Given the description of an element on the screen output the (x, y) to click on. 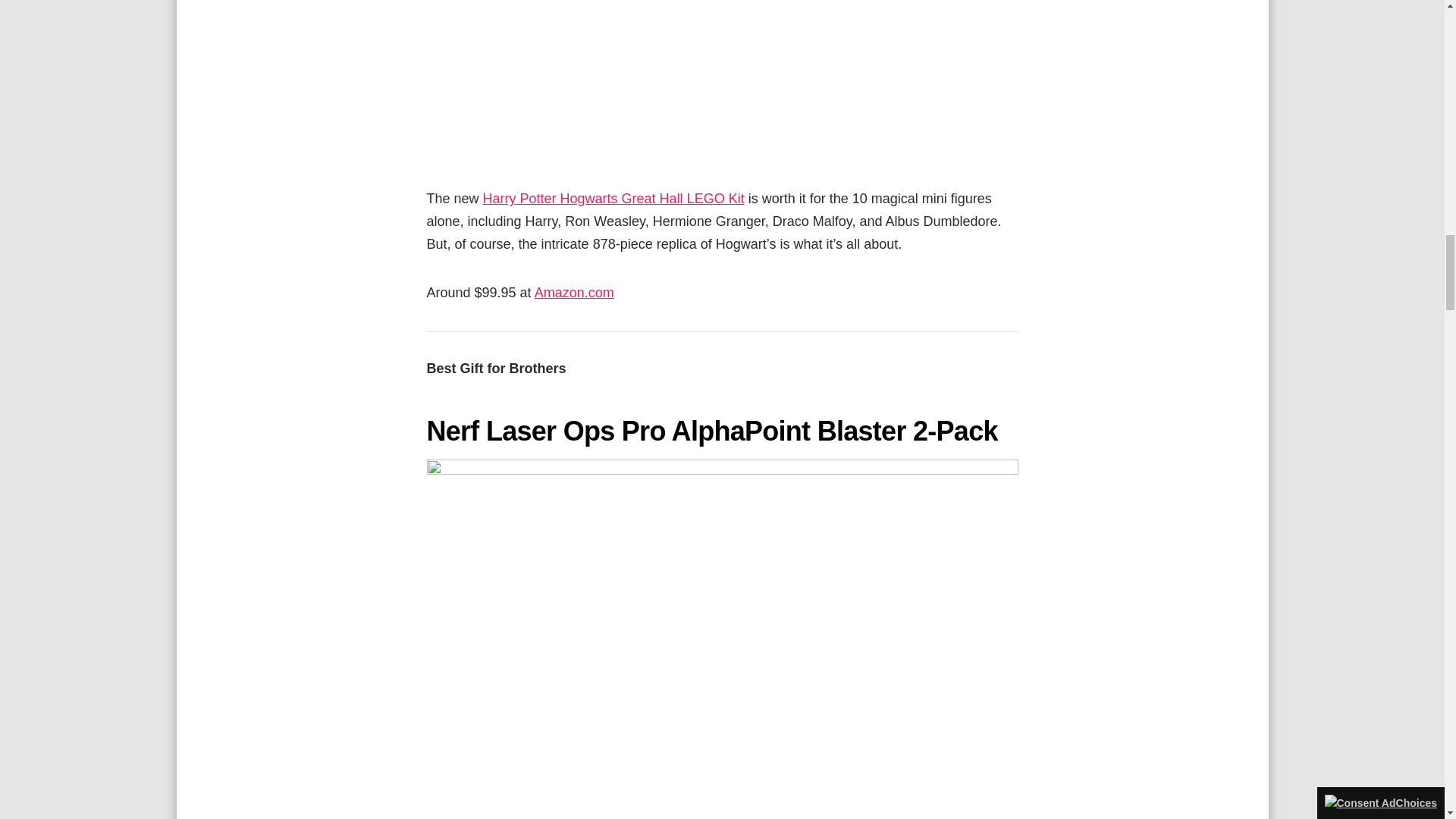
Amazon.com (574, 292)
Harry Potter Hogwarts Great Hall LEGO Kit (613, 198)
